Given the description of an element on the screen output the (x, y) to click on. 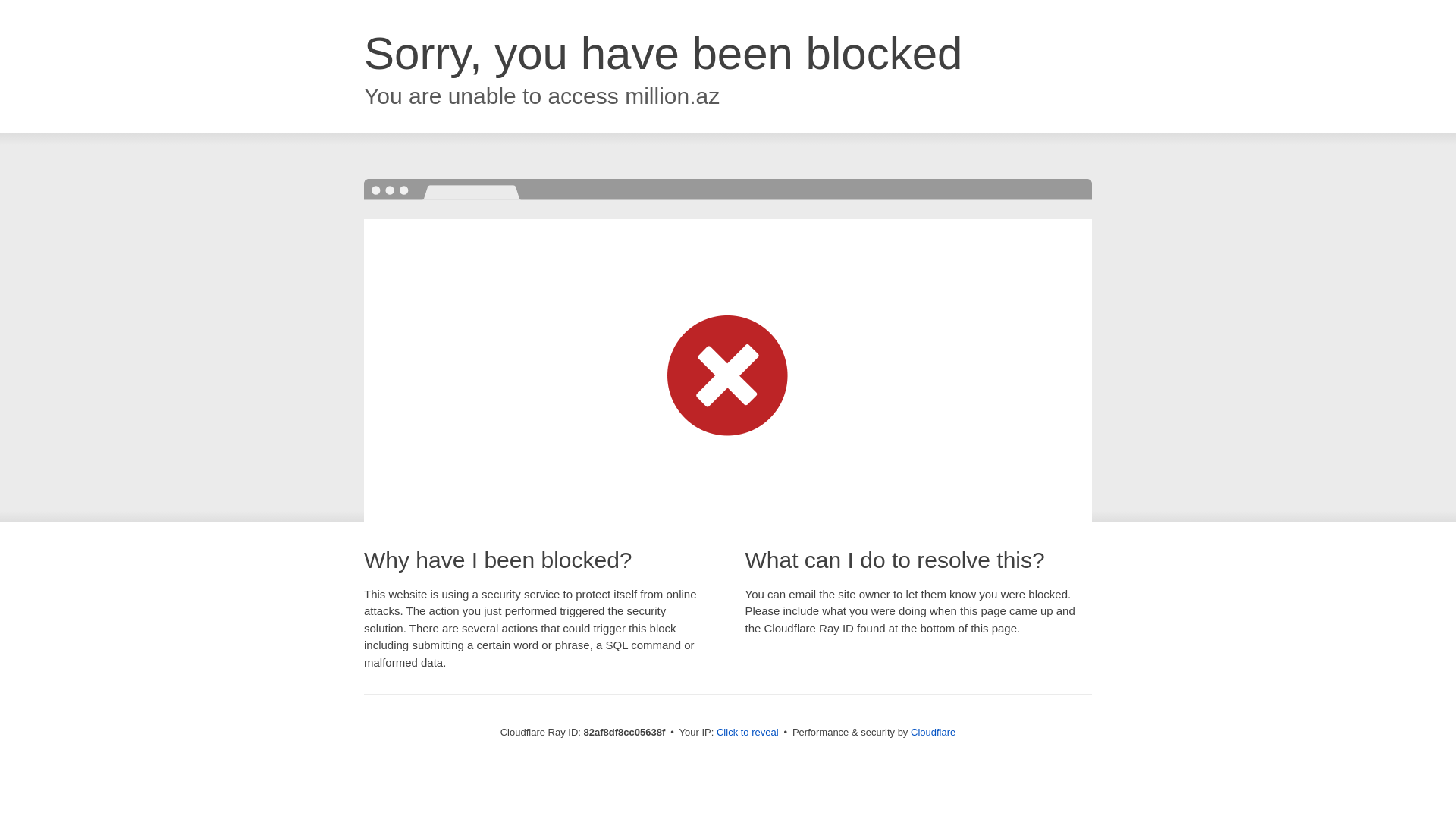
Cloudflare Element type: text (932, 731)
Click to reveal Element type: text (747, 732)
